Given the description of an element on the screen output the (x, y) to click on. 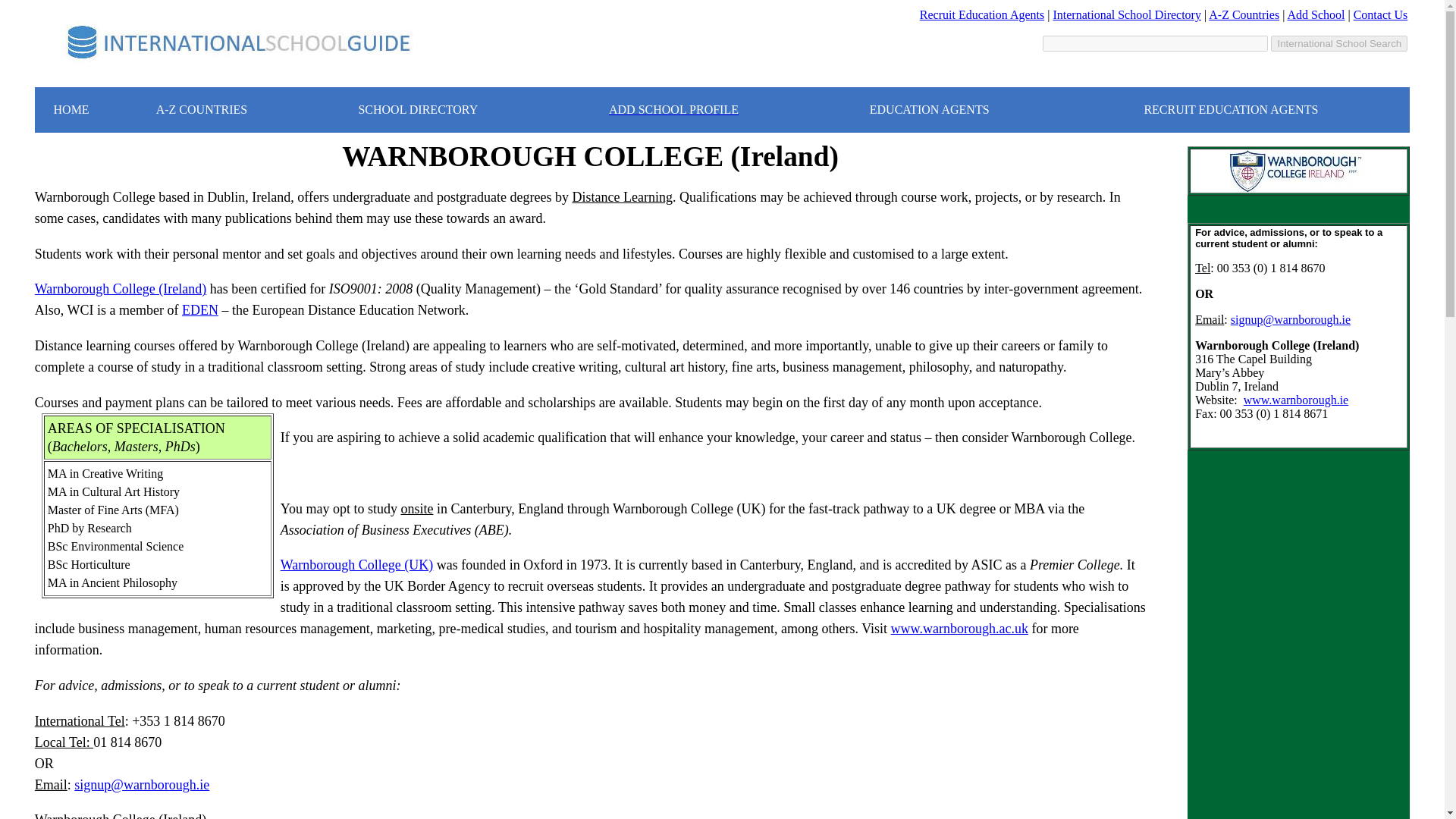
ADD SCHOOL PROFILE (673, 109)
www.warnborough.ie (1295, 399)
EDEN (200, 309)
HOME (70, 109)
Recruit Education Agents (981, 14)
SCHOOL DIRECTORY (417, 109)
International School Search (1339, 43)
A-Z COUNTRIES (201, 109)
RECRUIT EDUCATION AGENTS (1229, 109)
International School Directory (1126, 14)
Contact Us (1380, 14)
International School Search (1339, 43)
EDUCATION AGENTS (929, 109)
A-Z Countries (1243, 14)
www.warnborough.ac.uk (959, 628)
